Given the description of an element on the screen output the (x, y) to click on. 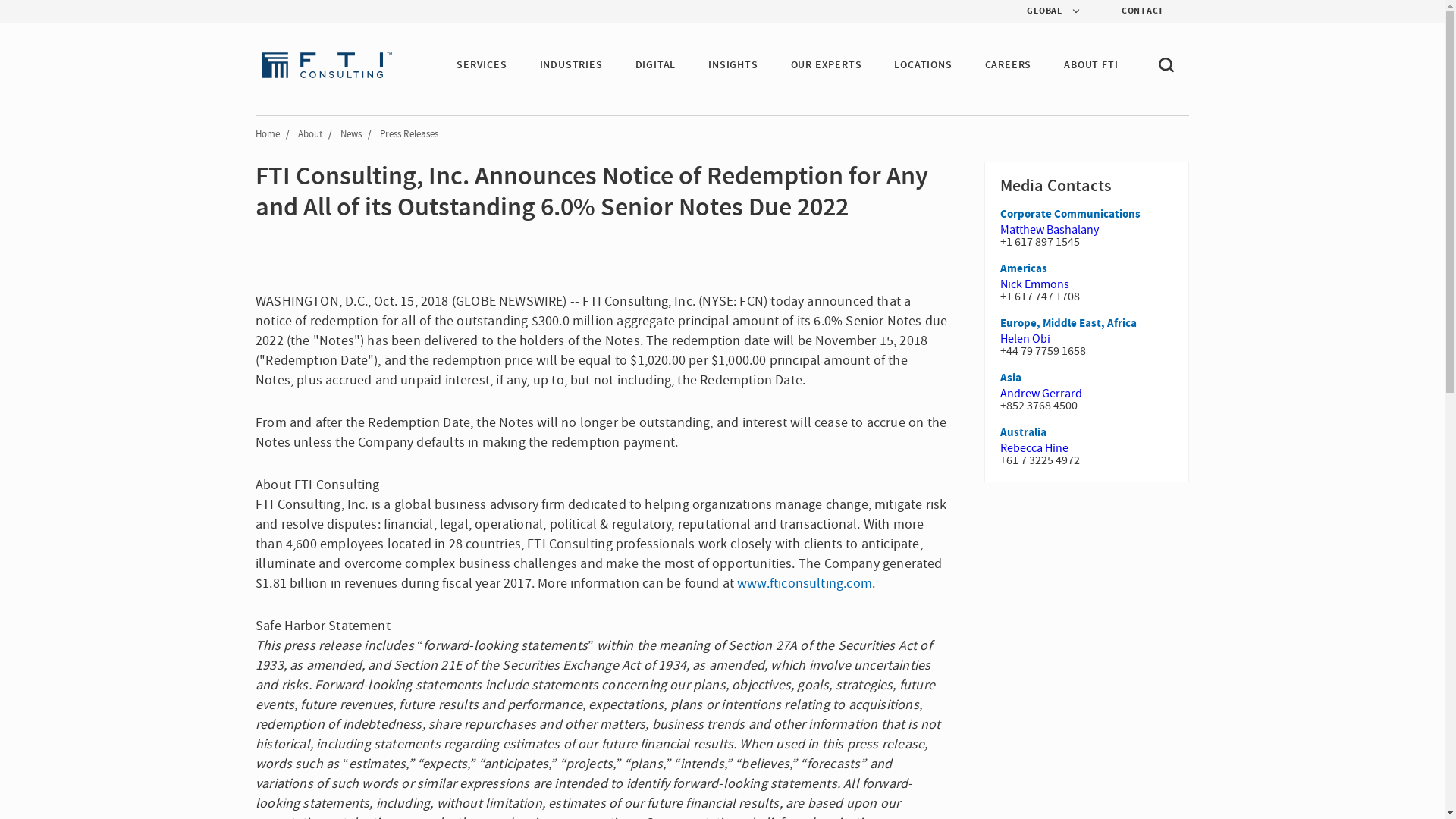
INDUSTRIES (571, 65)
SERVICES (481, 65)
CONTACT (1129, 11)
